Given the description of an element on the screen output the (x, y) to click on. 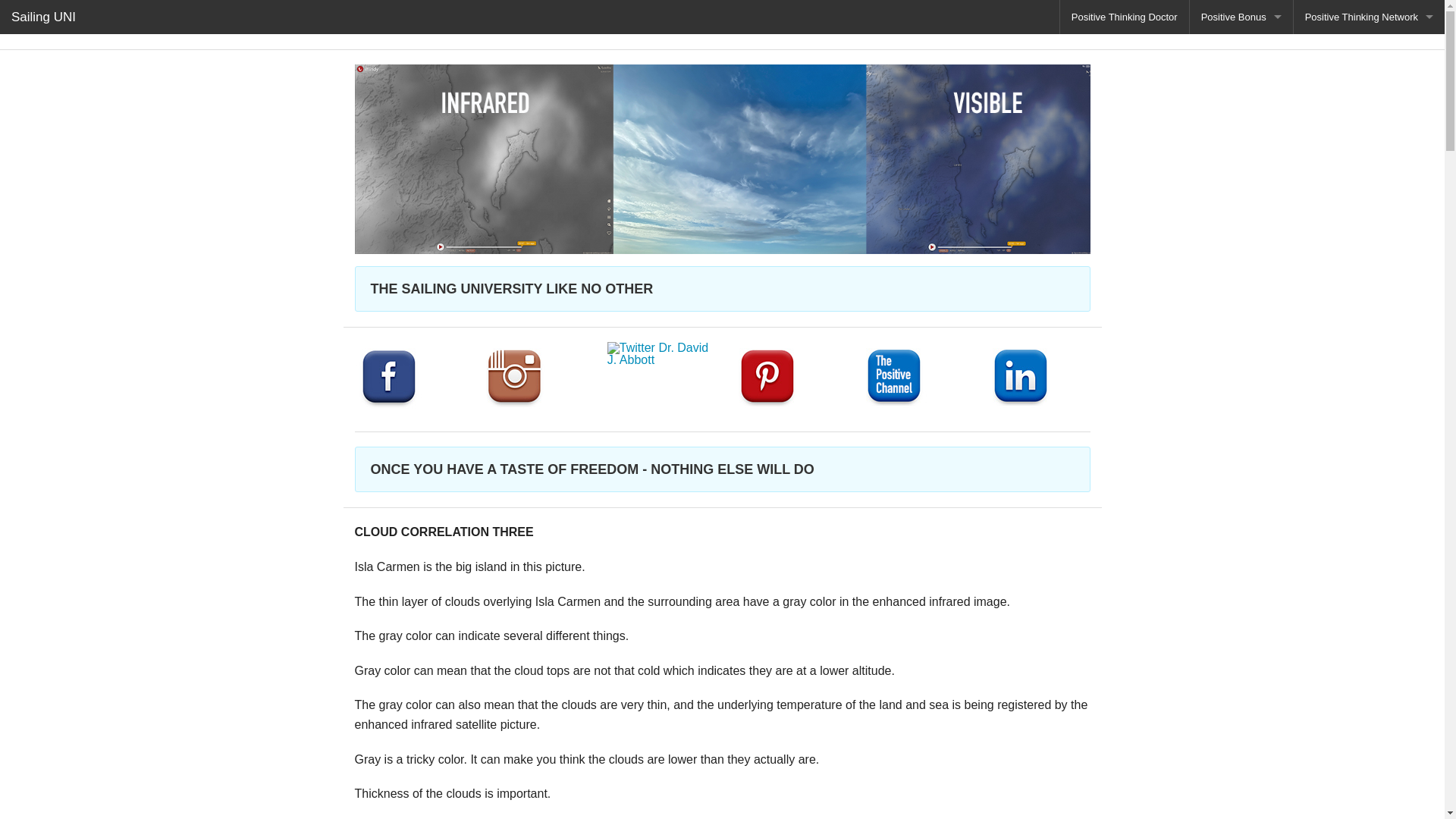
Sailing UNI (43, 17)
Positive Thinking Doctor (1124, 17)
Positive Bonus (1240, 17)
